Given the description of an element on the screen output the (x, y) to click on. 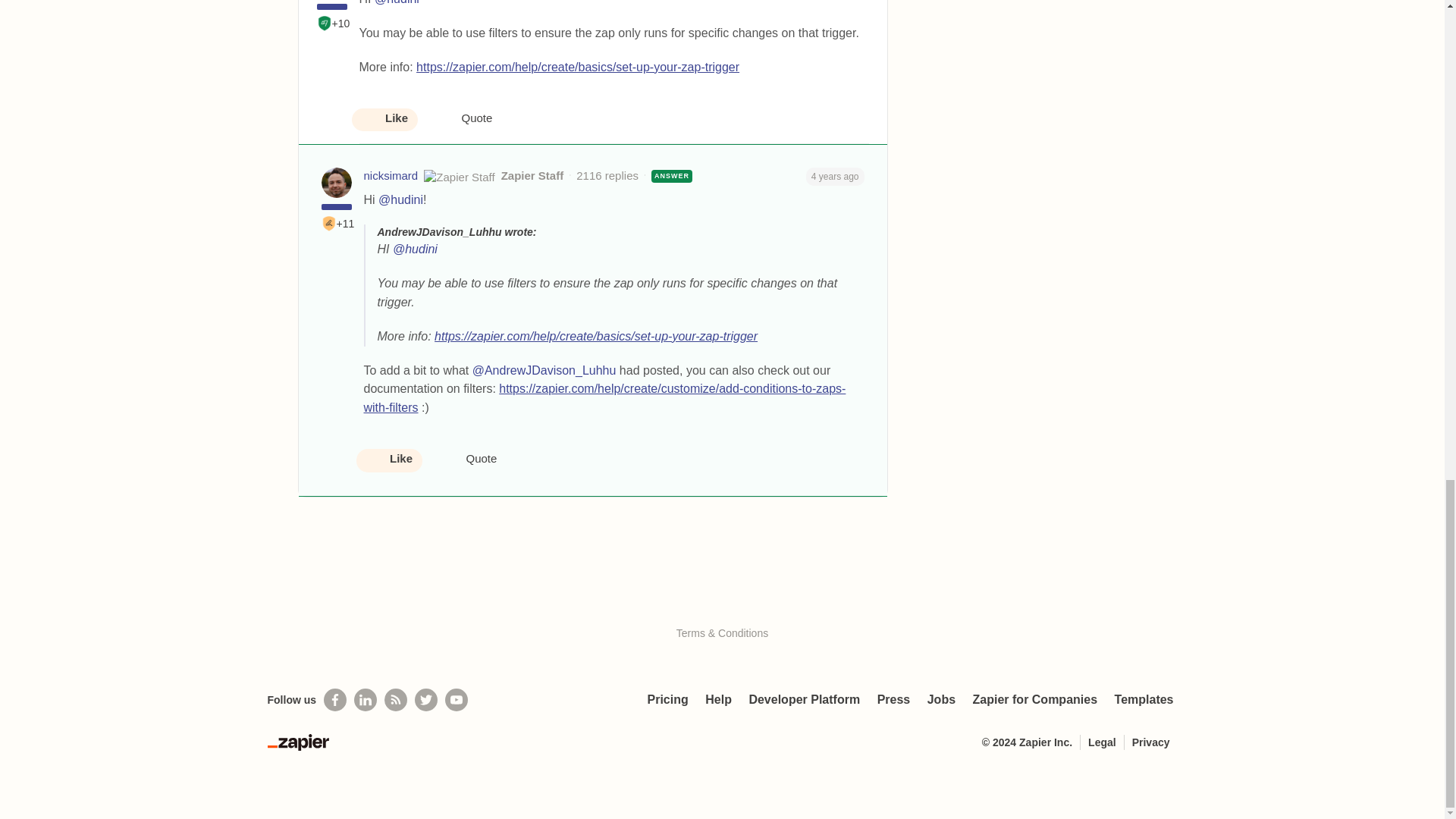
Subscribe to our blog (395, 699)
Helpful (324, 23)
Follow us on LinkedIn (365, 699)
Visit Gainsight.com (722, 600)
Follow us on Facebook (334, 699)
nicksimard (391, 176)
First Best Answer (328, 223)
See helpful Zapier videos on Youtube (456, 699)
